Given the description of an element on the screen output the (x, y) to click on. 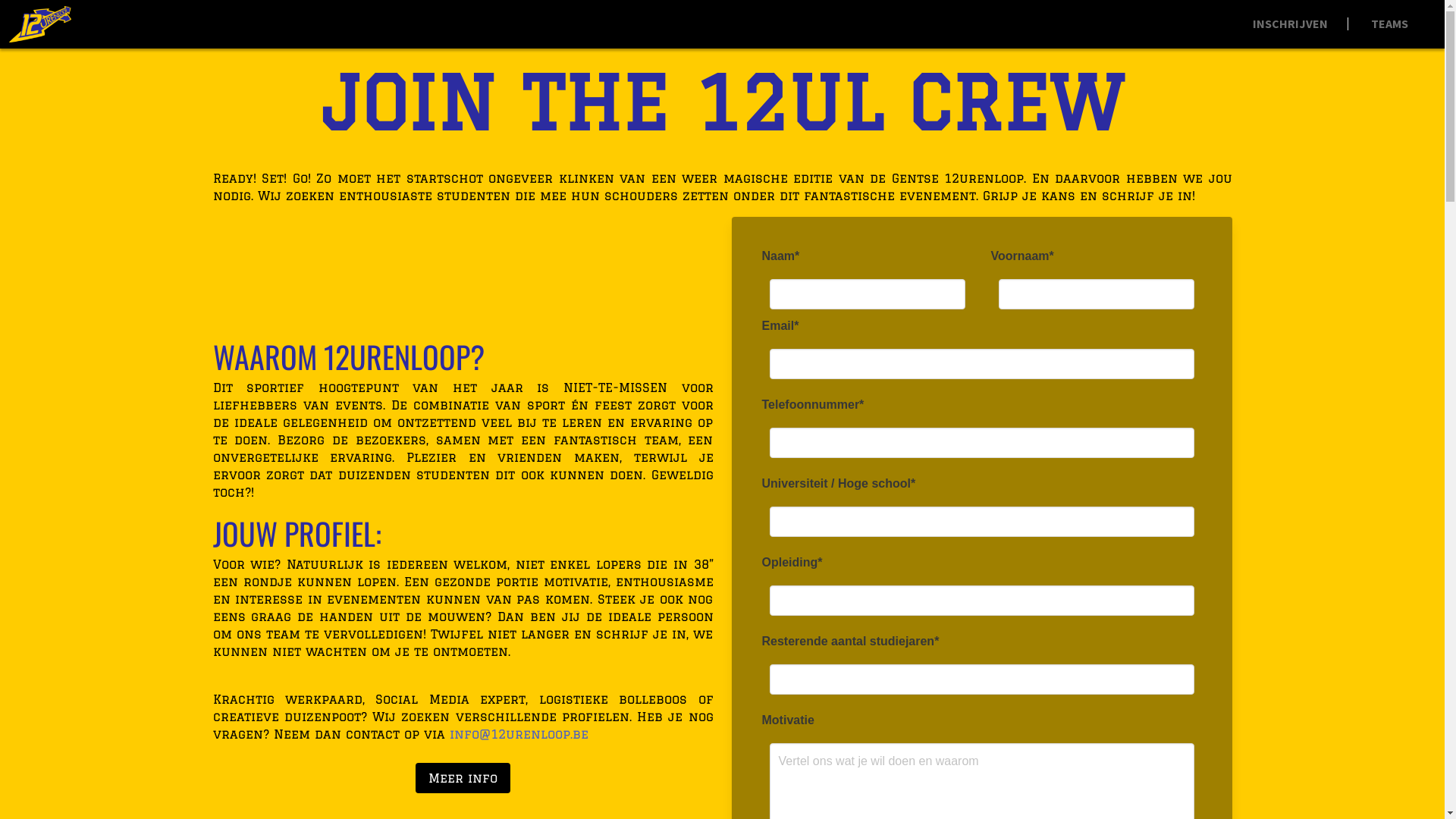
INSCHRIJVEN Element type: text (1289, 23)
Meer info Element type: text (462, 777)
TEAMS Element type: text (1389, 23)
info@12urenloop.be Element type: text (517, 733)
